Given the description of an element on the screen output the (x, y) to click on. 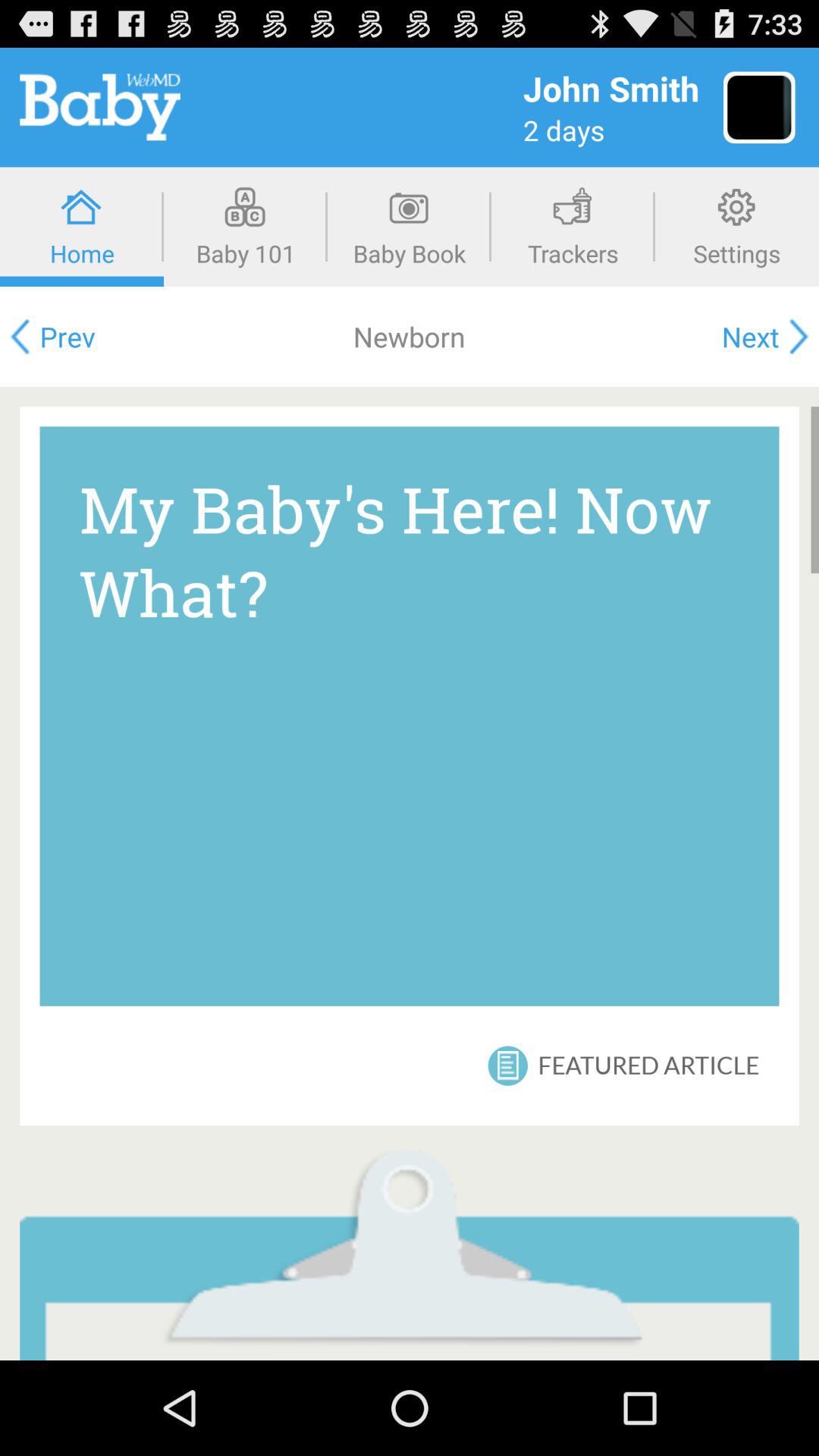
turn on the my baby s item (409, 716)
